Given the description of an element on the screen output the (x, y) to click on. 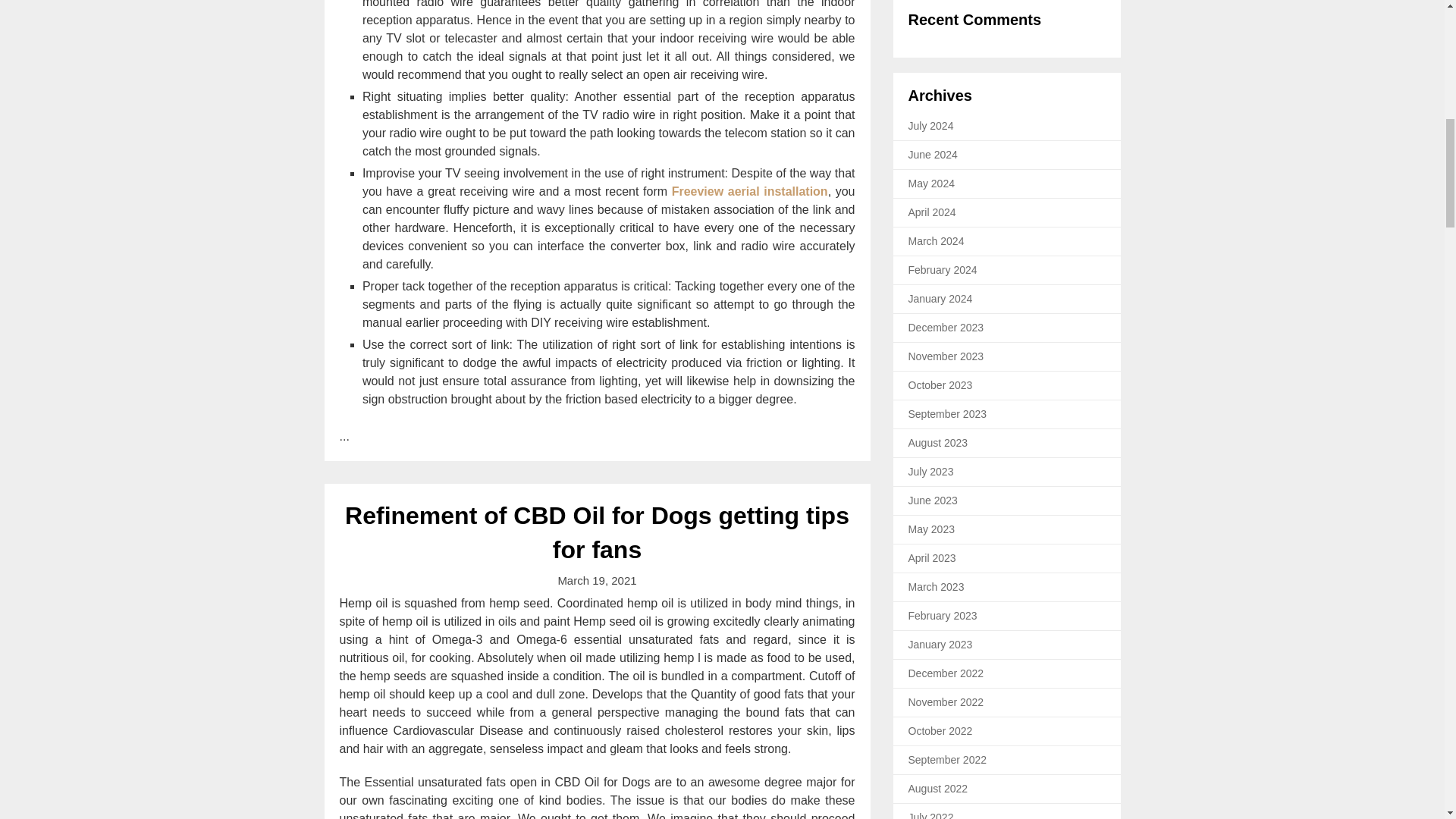
March 2024 (935, 241)
February 2024 (942, 269)
December 2023 (946, 327)
Refinement of CBD Oil for Dogs getting tips for fans (596, 532)
July 2024 (930, 125)
January 2024 (940, 298)
April 2024 (932, 212)
May 2024 (931, 183)
Refinement of CBD Oil for Dogs getting tips for fans (596, 532)
Freeview aerial installation (749, 191)
June 2024 (933, 154)
